Given the description of an element on the screen output the (x, y) to click on. 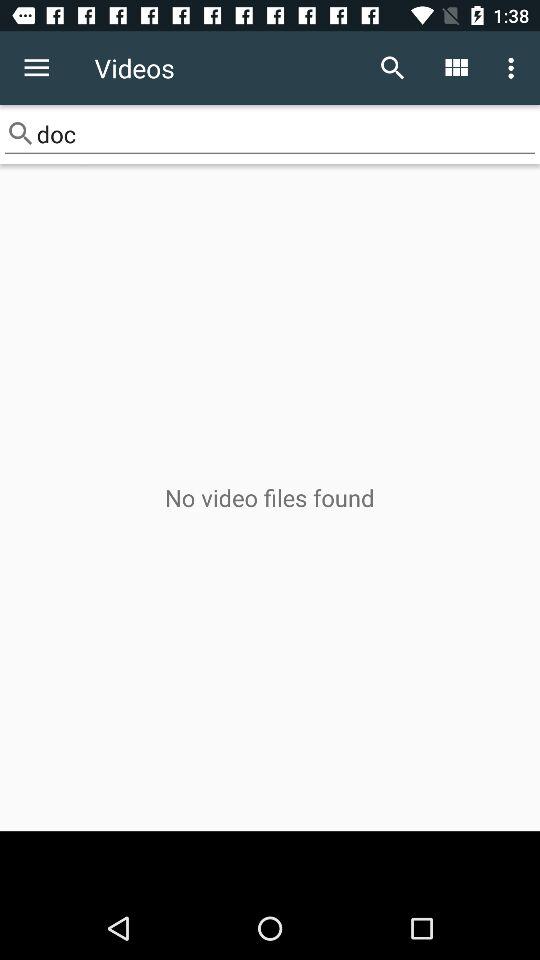
choose icon at the top (270, 134)
